Given the description of an element on the screen output the (x, y) to click on. 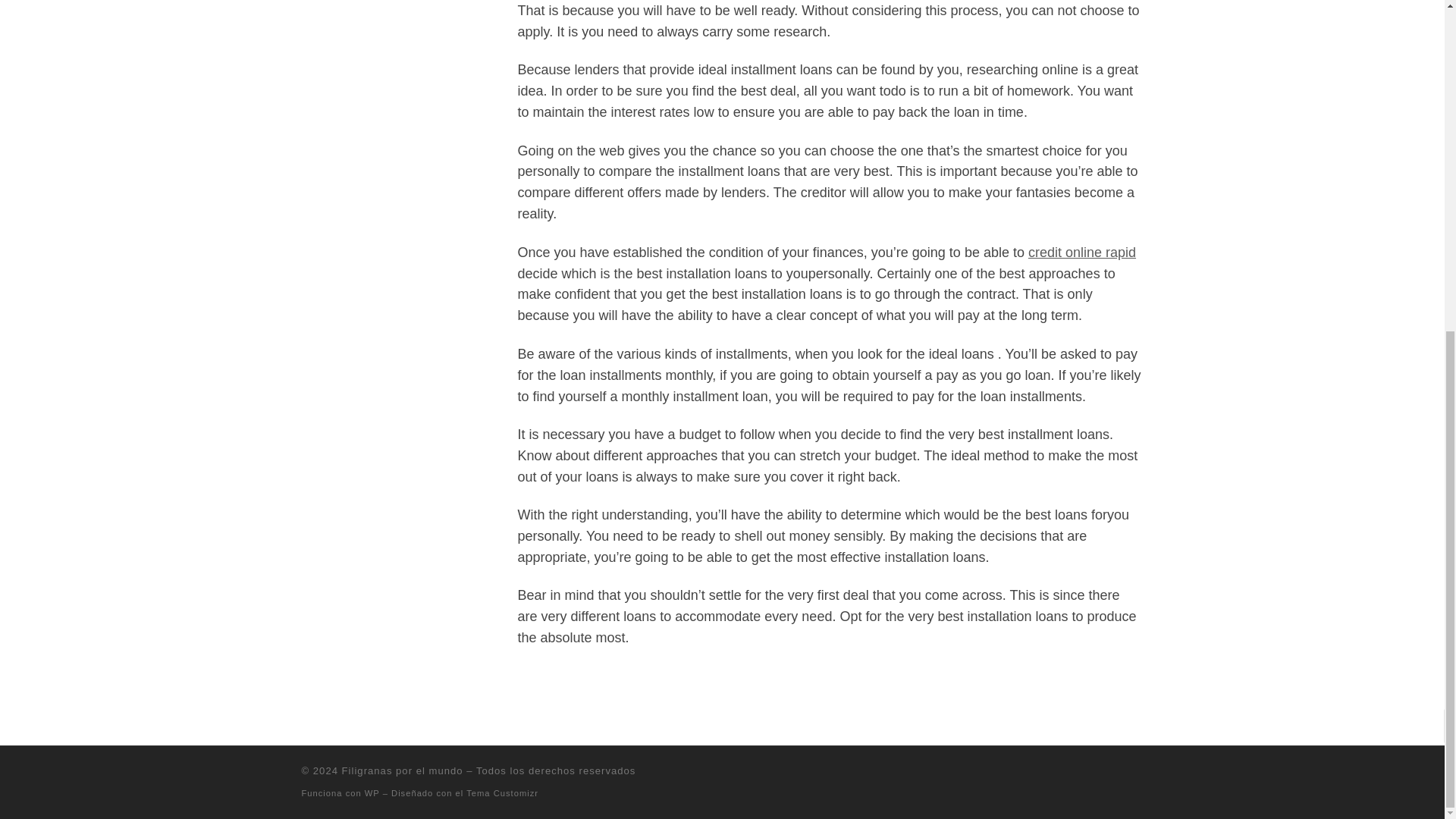
Tema Customizr (501, 792)
Funciona con WordPress (372, 792)
Filigranas por el mundo (402, 770)
